Given the description of an element on the screen output the (x, y) to click on. 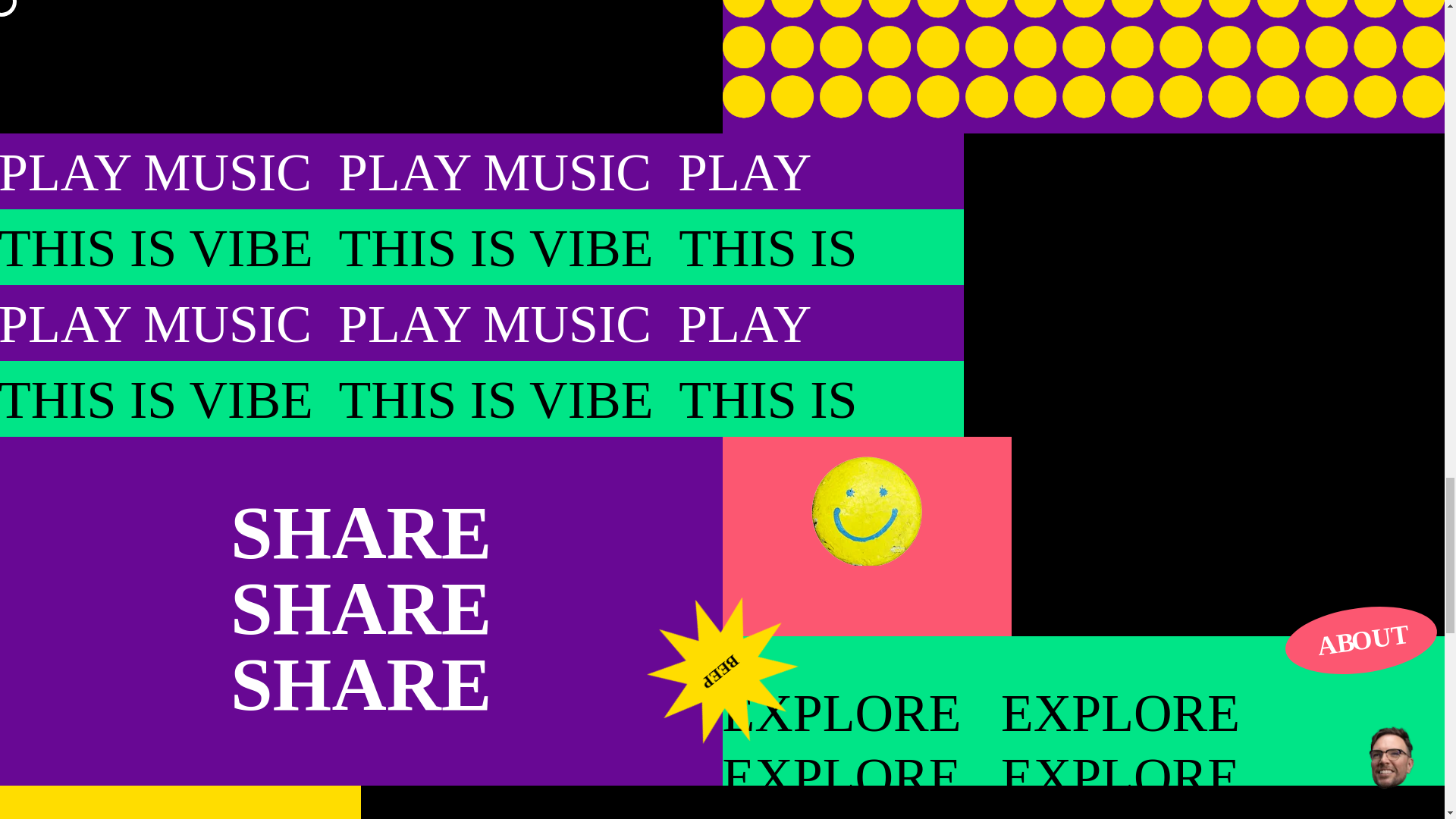
NAKED WORLD (541, 795)
ABOUT (1361, 640)
Ice Ice Baby (902, 795)
musicyellow (1226, 532)
BEEP (722, 670)
Arrow-Music (1336, 382)
